Given the description of an element on the screen output the (x, y) to click on. 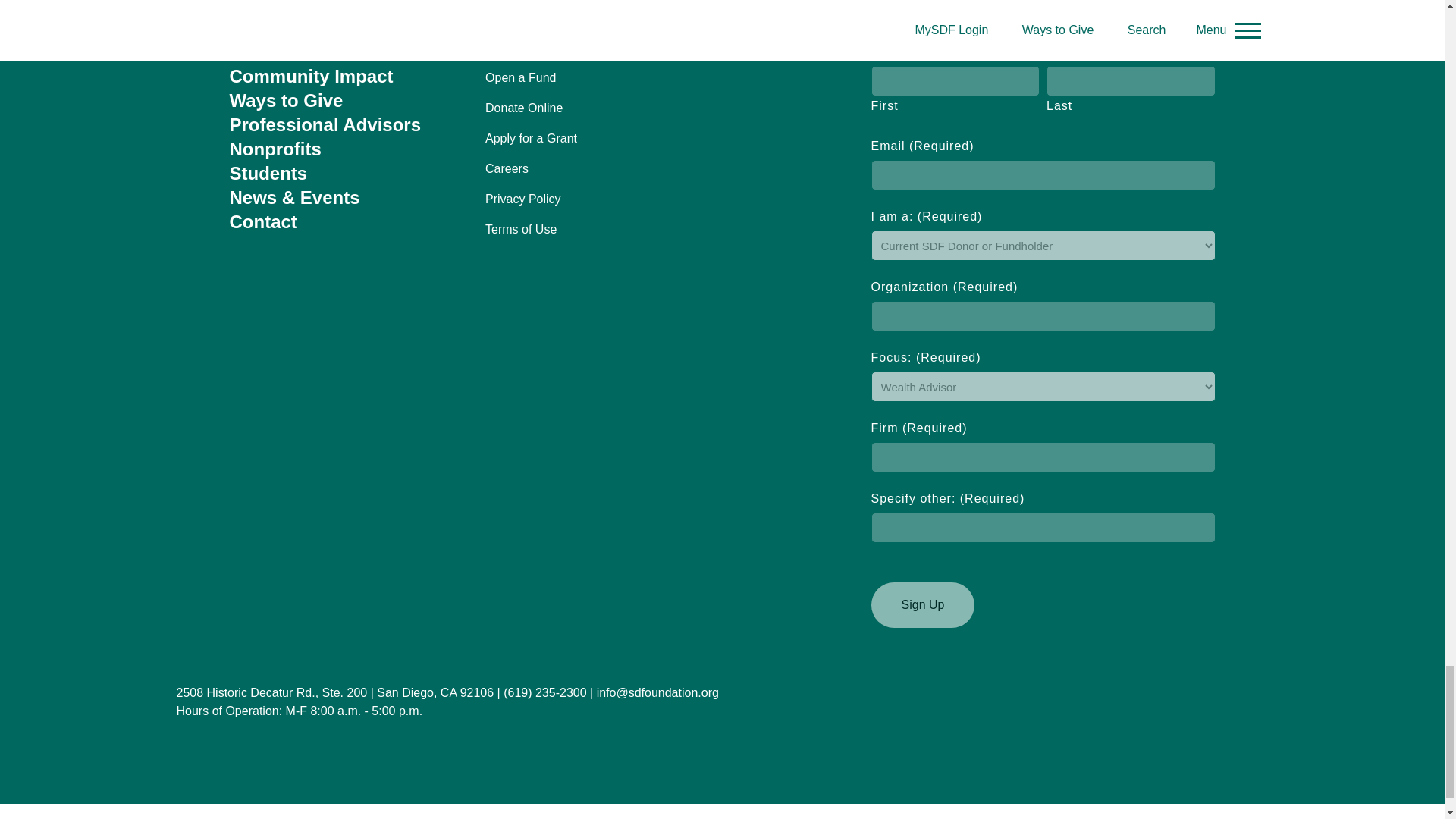
Sign Up (922, 605)
